Given the description of an element on the screen output the (x, y) to click on. 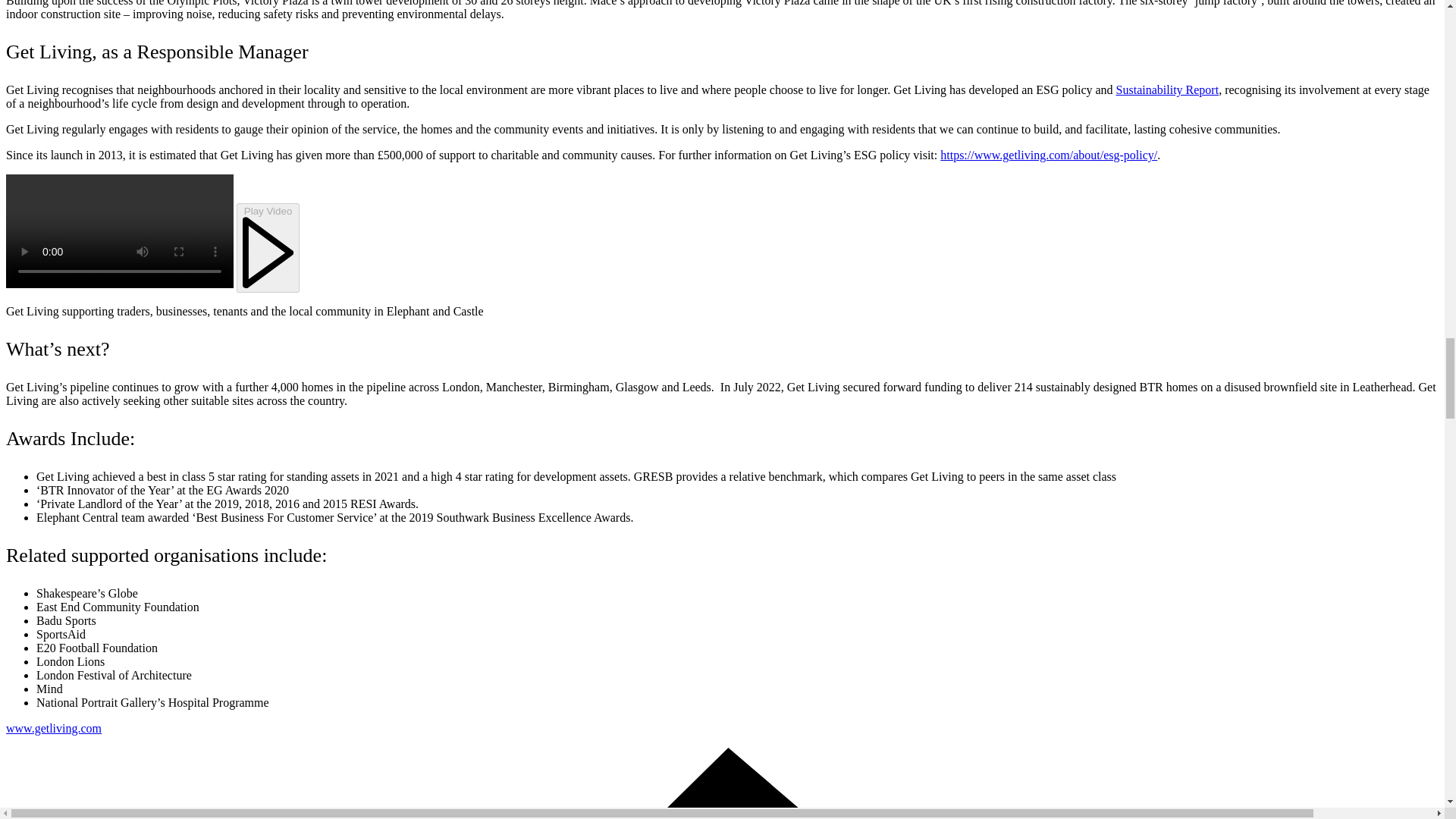
www.getliving.com (53, 727)
Play Video (267, 247)
Sustainability Report (1168, 89)
